Given the description of an element on the screen output the (x, y) to click on. 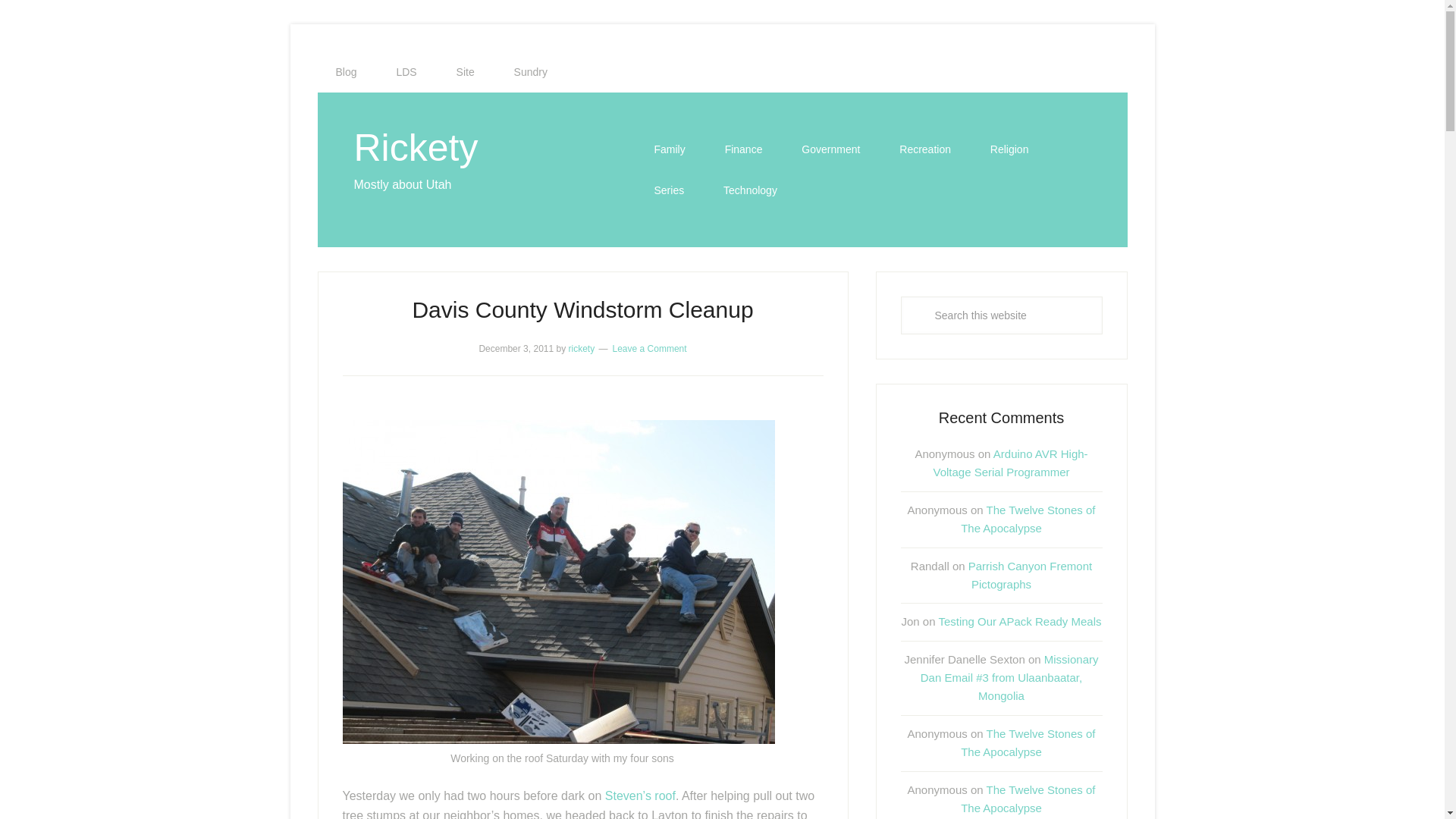
Family (668, 148)
Rickety (415, 147)
View as a conventional blog (345, 71)
LDS (405, 71)
Membership statistics and other stuff (405, 71)
Site (465, 71)
Blog (345, 71)
Details about this blog (465, 71)
Sundry (531, 71)
